Given the description of an element on the screen output the (x, y) to click on. 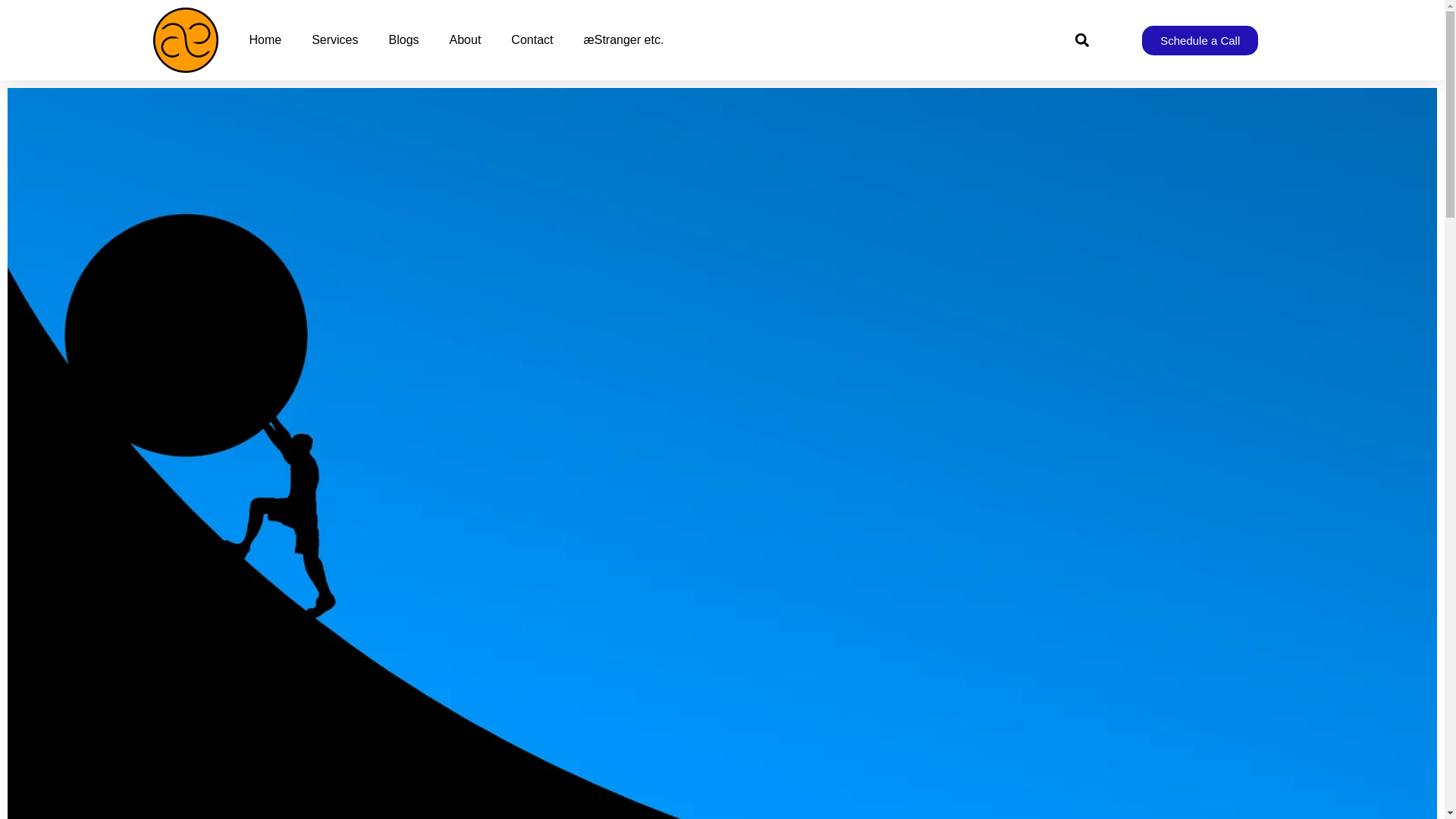
Services (334, 39)
About (464, 39)
Blogs (403, 39)
Schedule a Call (1199, 40)
Home (264, 39)
Contact (531, 39)
